Given the description of an element on the screen output the (x, y) to click on. 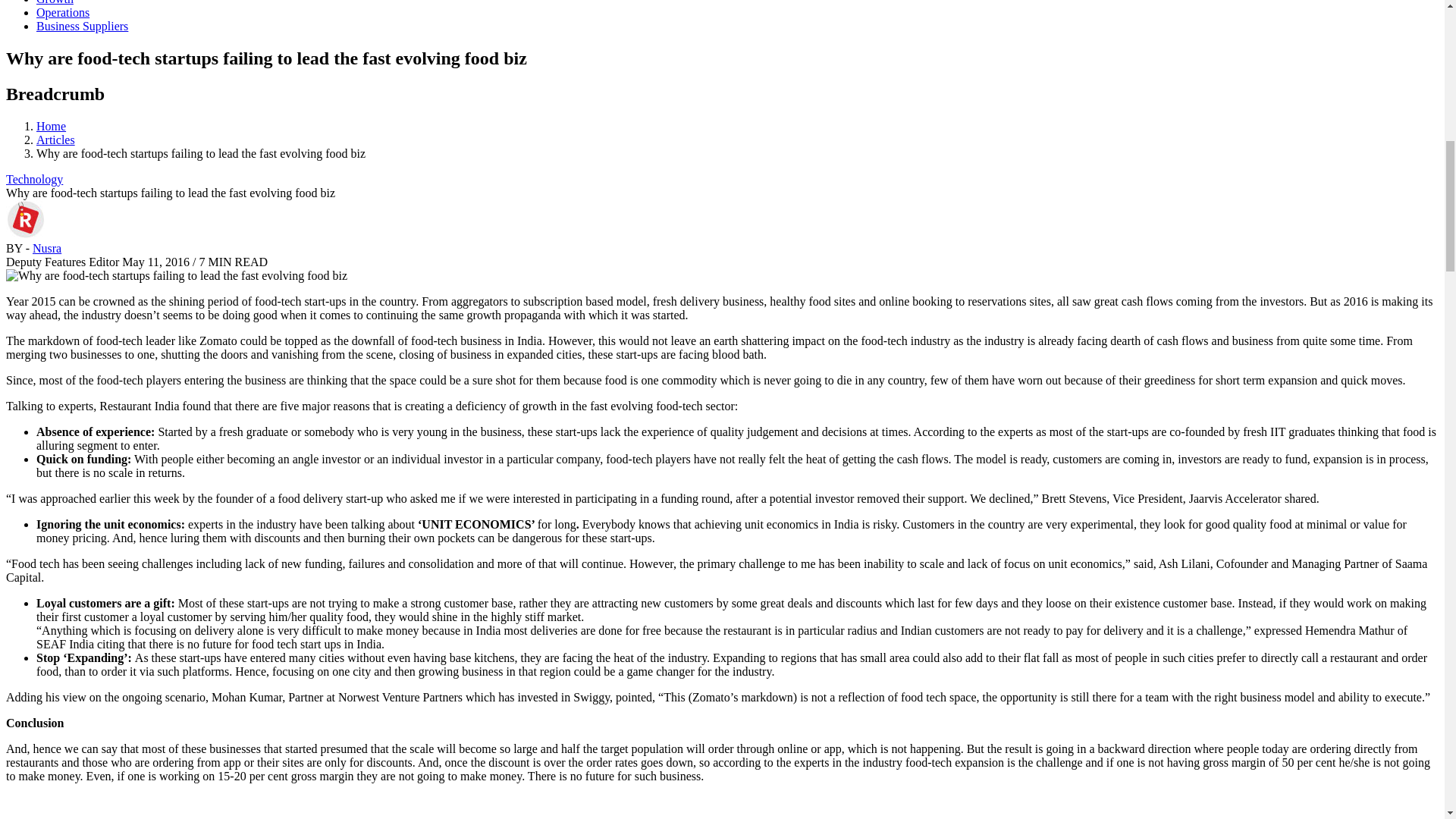
Home (50, 125)
Technology (33, 178)
Nusra (46, 247)
Articles (55, 139)
Growth (55, 2)
Business Suppliers (82, 25)
Operations (62, 11)
